Given the description of an element on the screen output the (x, y) to click on. 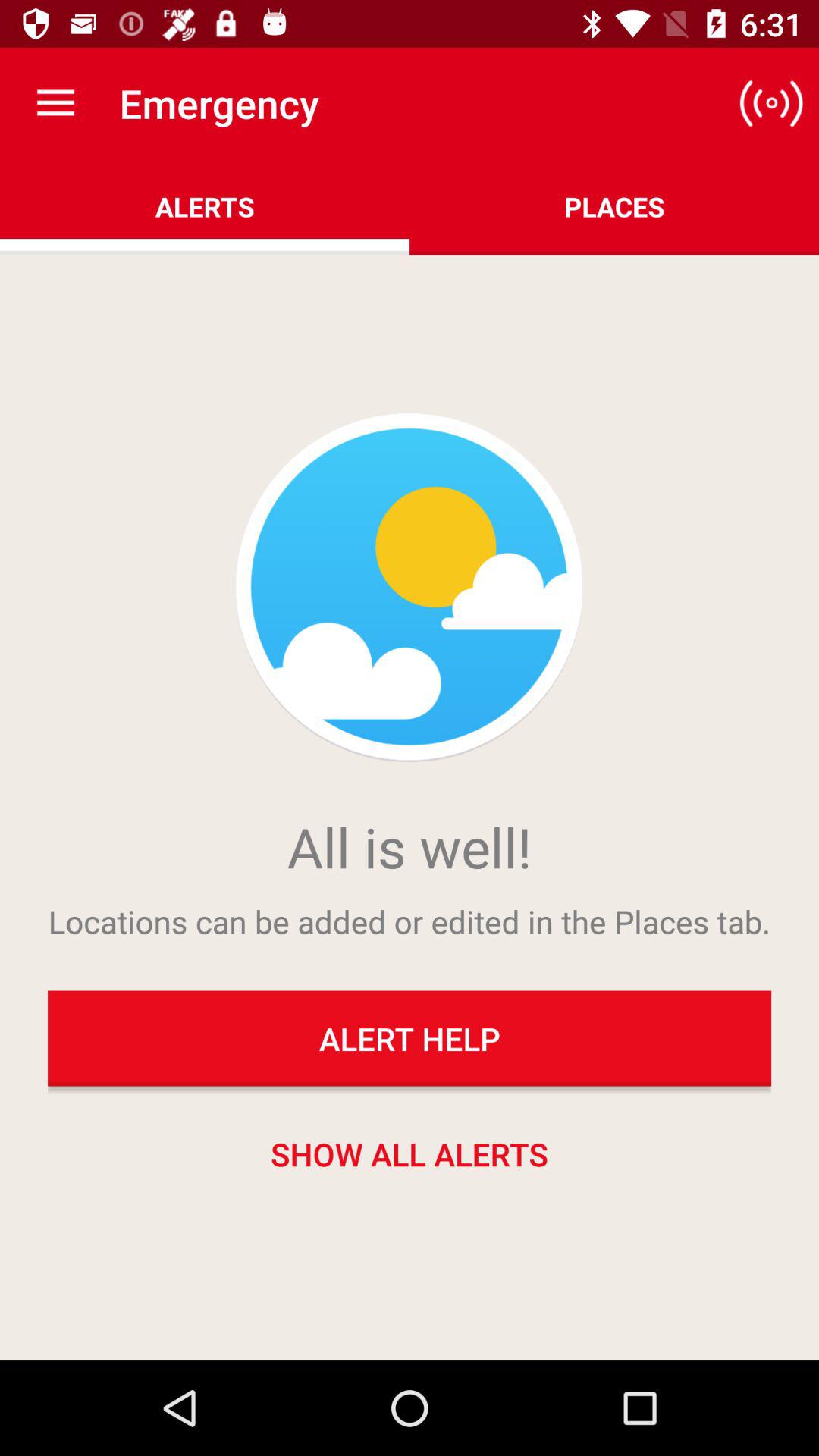
select icon below alert help icon (409, 1153)
